Given the description of an element on the screen output the (x, y) to click on. 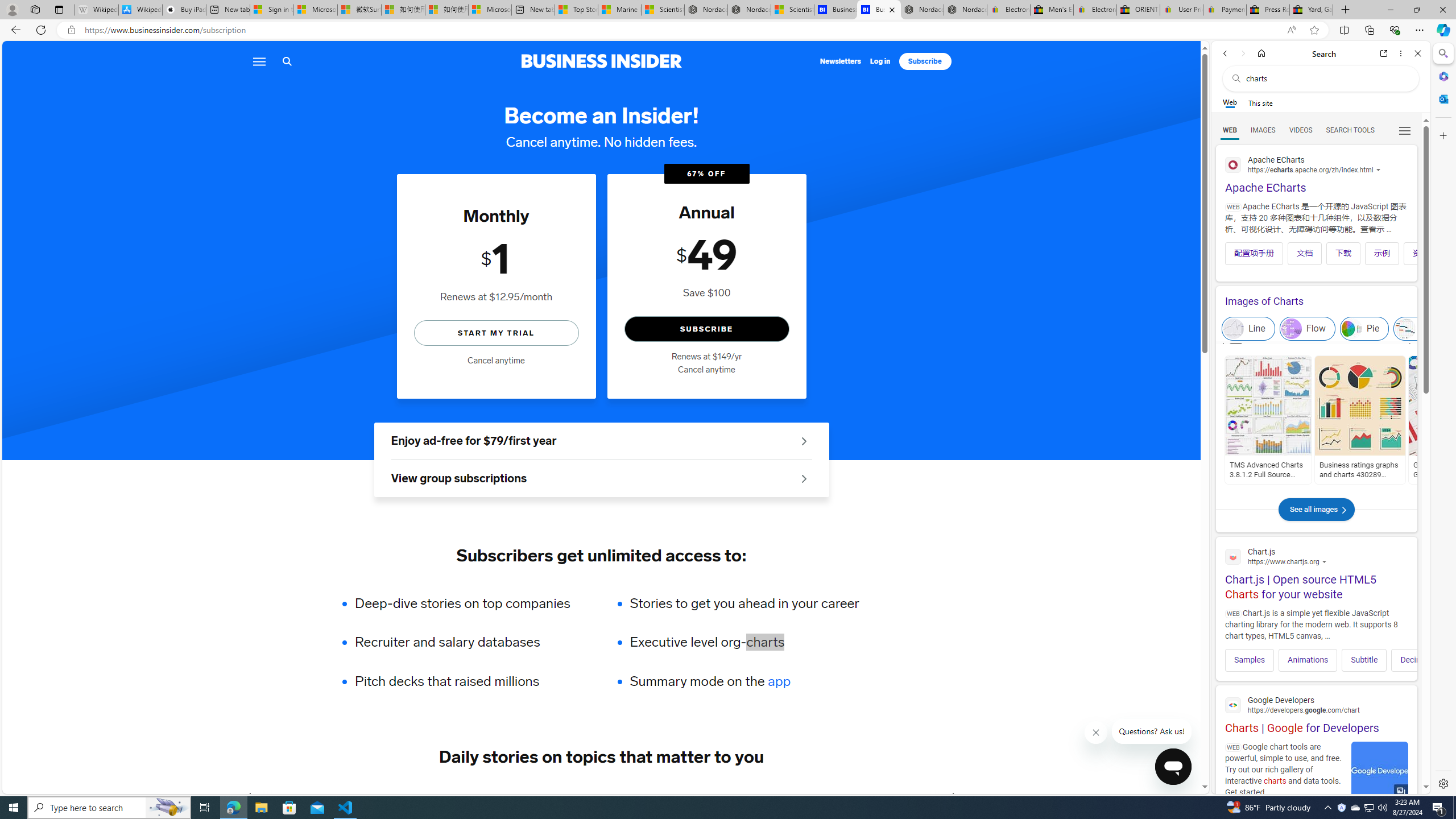
User Privacy Notice | eBay (1181, 9)
Search Filter, Search Tools (1350, 129)
Cancel anytime (706, 369)
Charts | Google for Developers (1315, 713)
ADVERTISING (349, 796)
See all images (1315, 520)
Samples (1249, 660)
Summary mode on the app (743, 681)
Pitch decks that raised millions (470, 681)
app (778, 681)
